Given the description of an element on the screen output the (x, y) to click on. 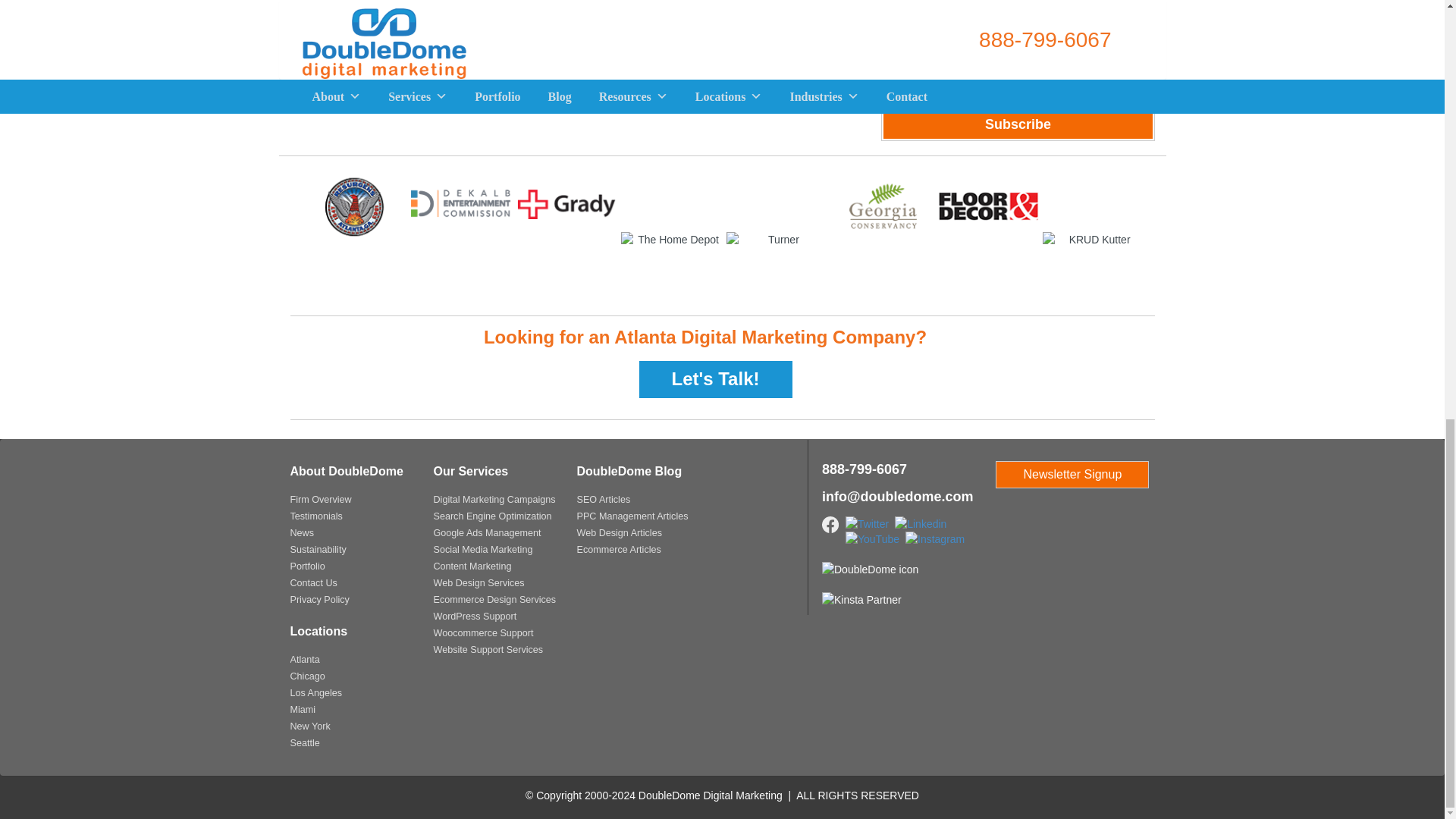
Subscribe (1017, 124)
